Given the description of an element on the screen output the (x, y) to click on. 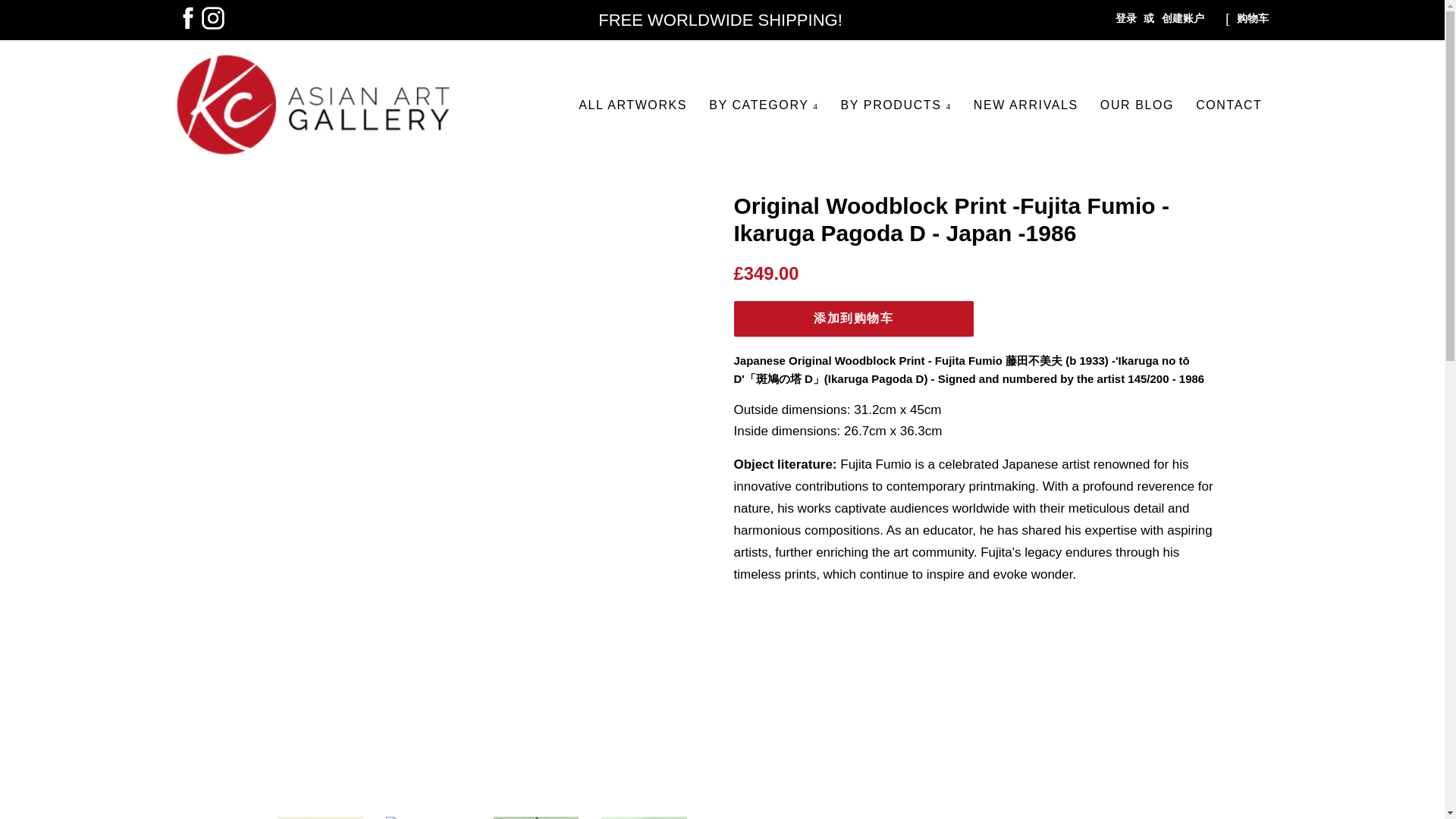
BY PRODUCTS (893, 104)
ALL ARTWORKS (635, 104)
BY CATEGORY (760, 104)
